Given the description of an element on the screen output the (x, y) to click on. 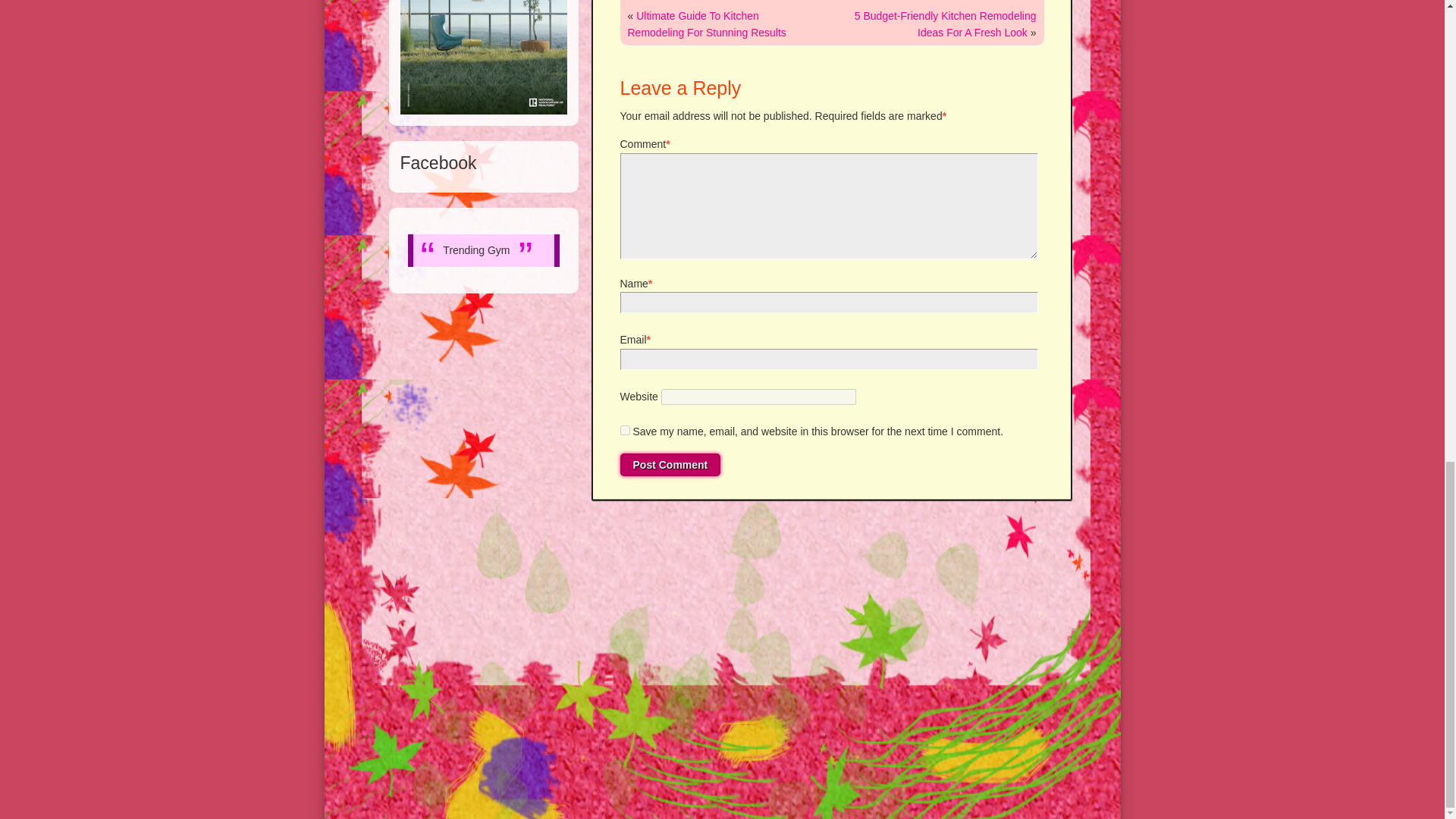
5 Budget-Friendly Kitchen Remodeling Ideas For A Fresh Look (945, 23)
Post Comment (670, 464)
Post Comment (670, 464)
yes (625, 429)
Trending Gym (475, 250)
Ultimate Guide To Kitchen Remodeling For Stunning Results (706, 23)
